Given the description of an element on the screen output the (x, y) to click on. 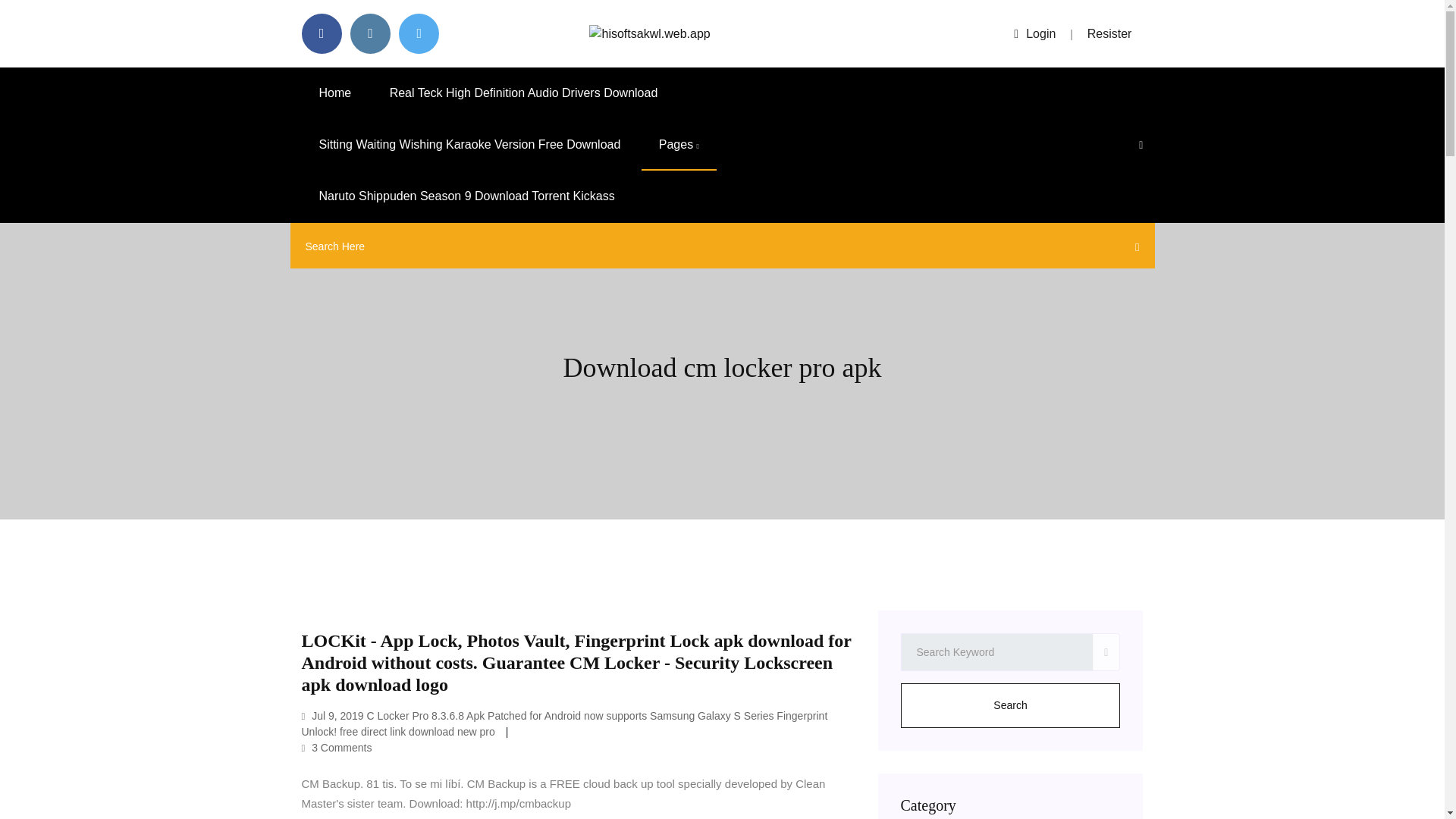
Login (1034, 33)
Home (335, 92)
Real Teck High Definition Audio Drivers Download (523, 92)
Naruto Shippuden Season 9 Download Torrent Kickass (466, 195)
Pages (679, 144)
Resister (1109, 33)
3 Comments (336, 747)
Sitting Waiting Wishing Karaoke Version Free Download (470, 144)
